Given the description of an element on the screen output the (x, y) to click on. 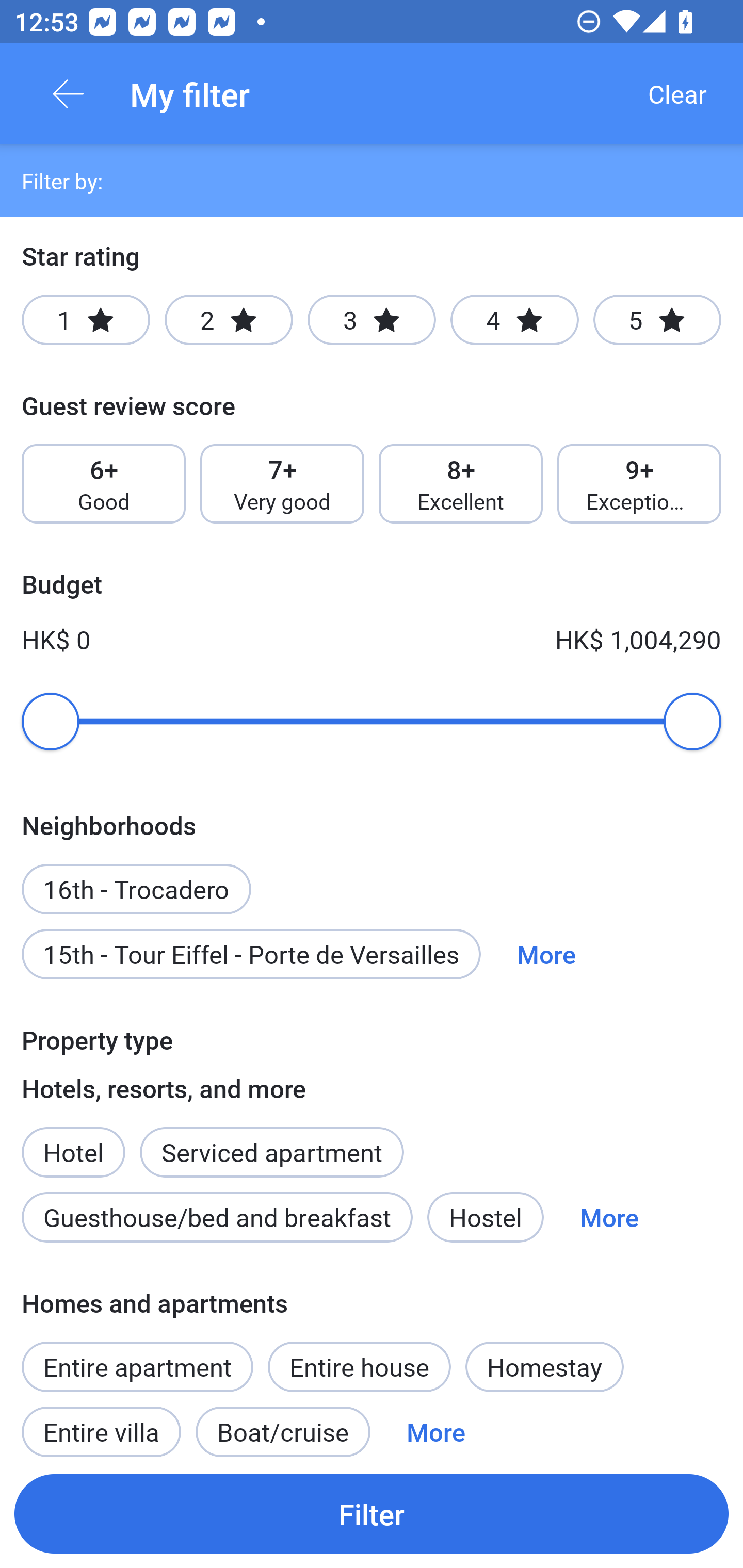
Clear (676, 93)
1 (85, 319)
2 (228, 319)
3 (371, 319)
4 (514, 319)
5 (657, 319)
6+ Good (103, 483)
7+ Very good (281, 483)
8+ Excellent (460, 483)
9+ Exceptional (639, 483)
16th - Trocadero (136, 878)
15th - Tour Eiffel - Porte de Versailles (250, 954)
More (546, 954)
Hotel (73, 1141)
Serviced apartment (271, 1141)
Guesthouse/bed and breakfast (217, 1217)
Hostel (485, 1217)
More (608, 1217)
Entire apartment (137, 1366)
Entire house (359, 1366)
Homestay (544, 1366)
Entire villa (101, 1424)
Boat/cruise (282, 1424)
More (435, 1424)
Filter (371, 1513)
